Given the description of an element on the screen output the (x, y) to click on. 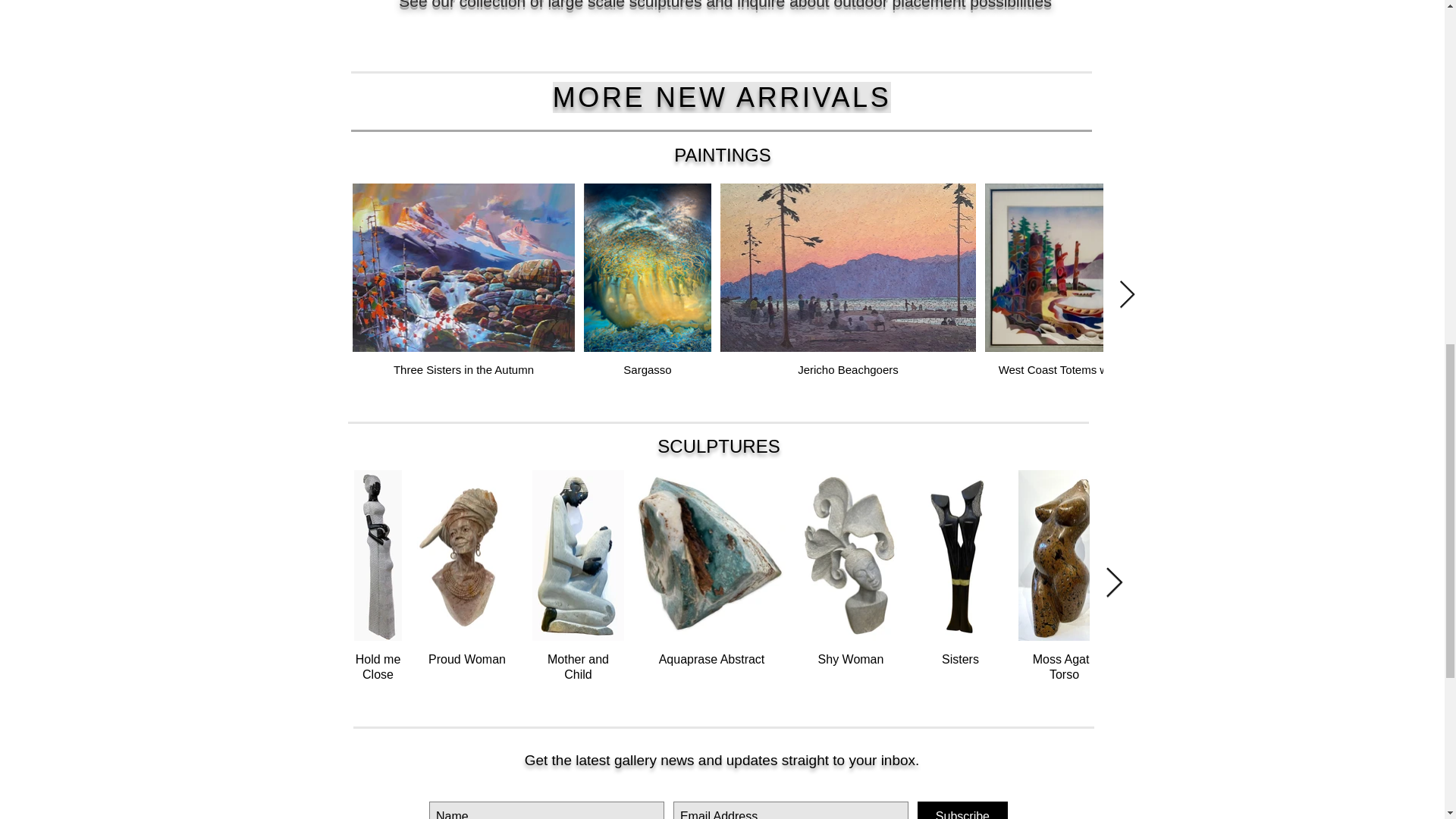
Wix Get Subscribers (718, 791)
